Given the description of an element on the screen output the (x, y) to click on. 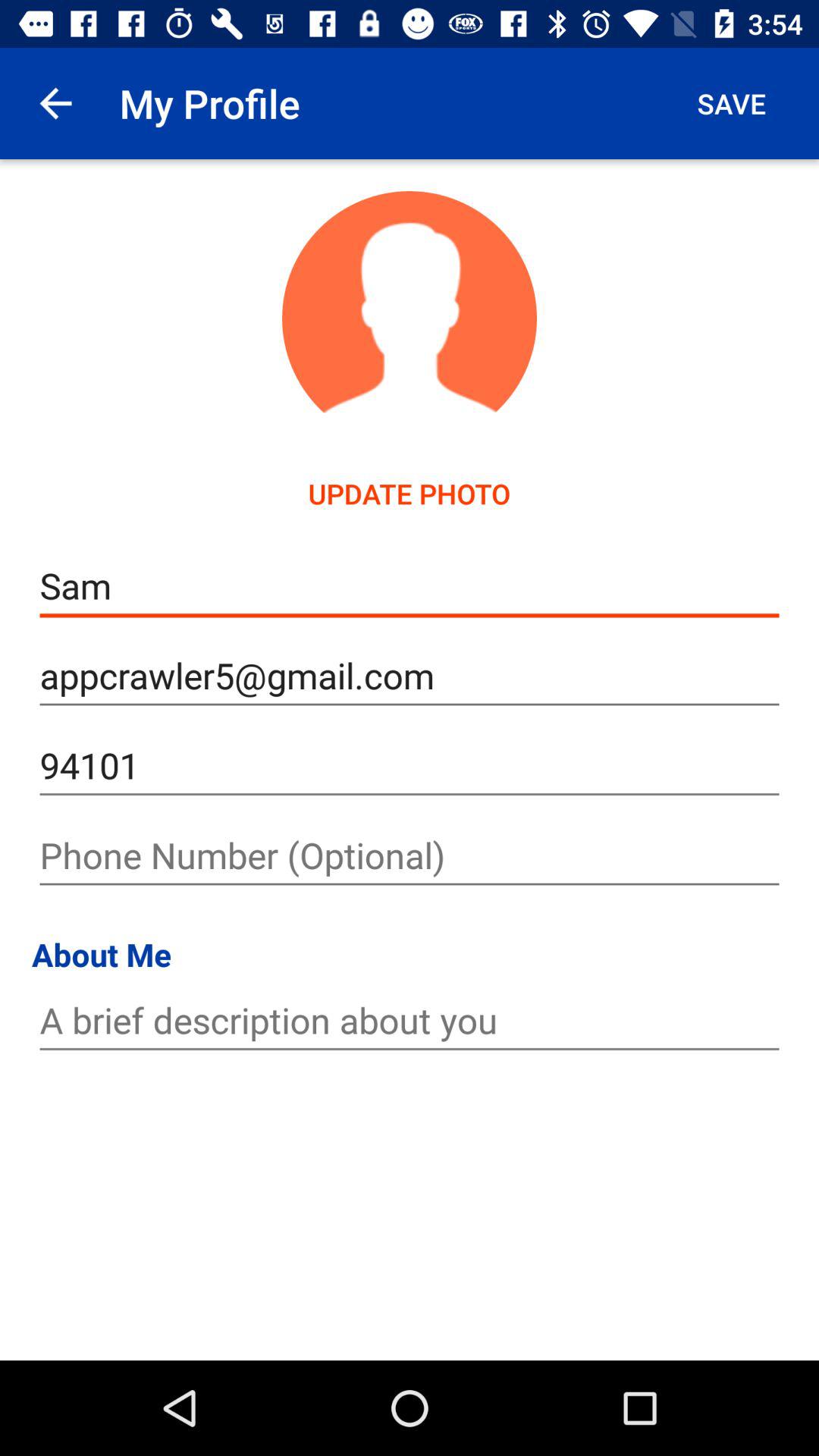
launch icon above the sam icon (55, 103)
